Given the description of an element on the screen output the (x, y) to click on. 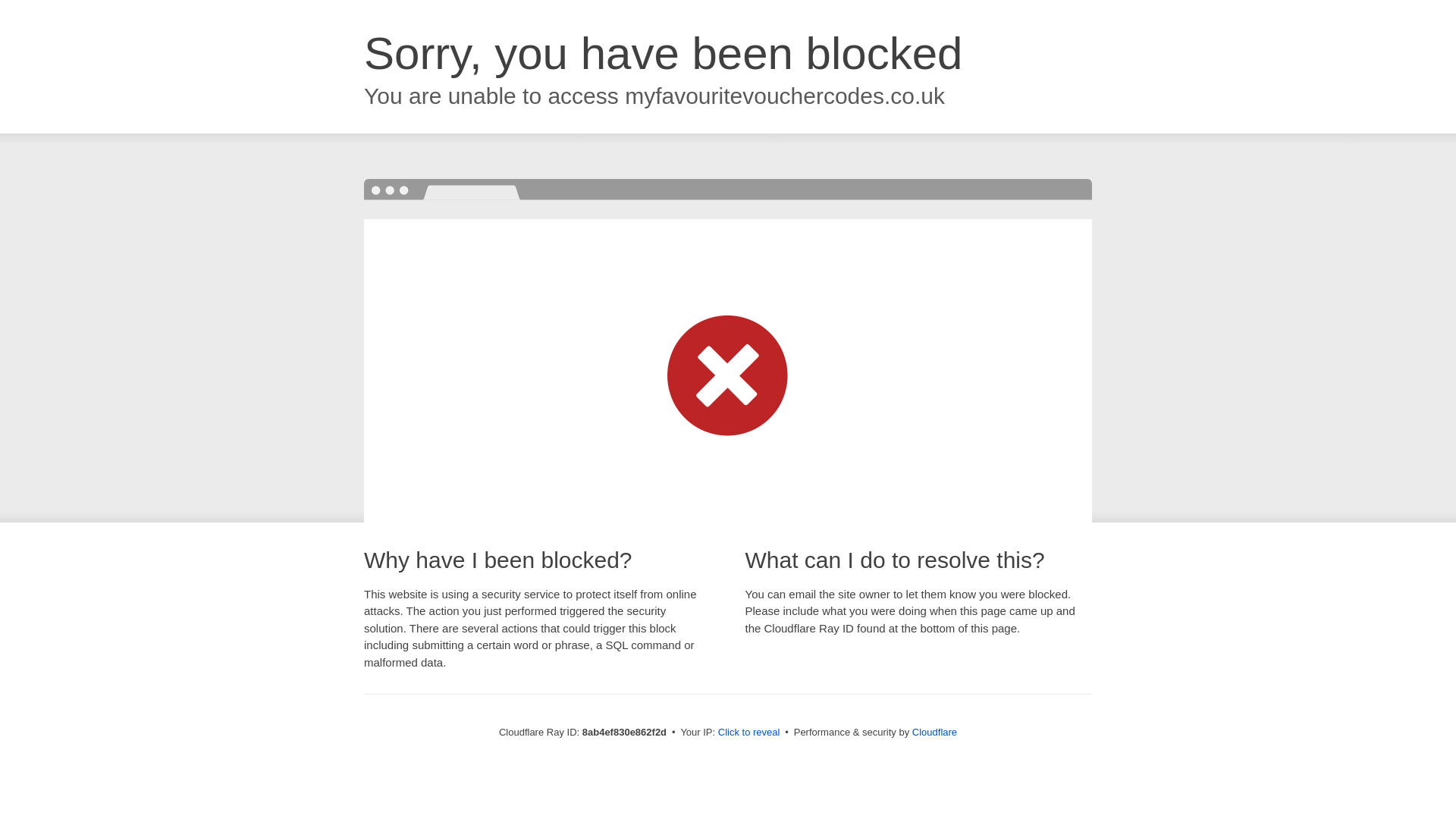
Click to reveal (748, 732)
Cloudflare (934, 731)
